Given the description of an element on the screen output the (x, y) to click on. 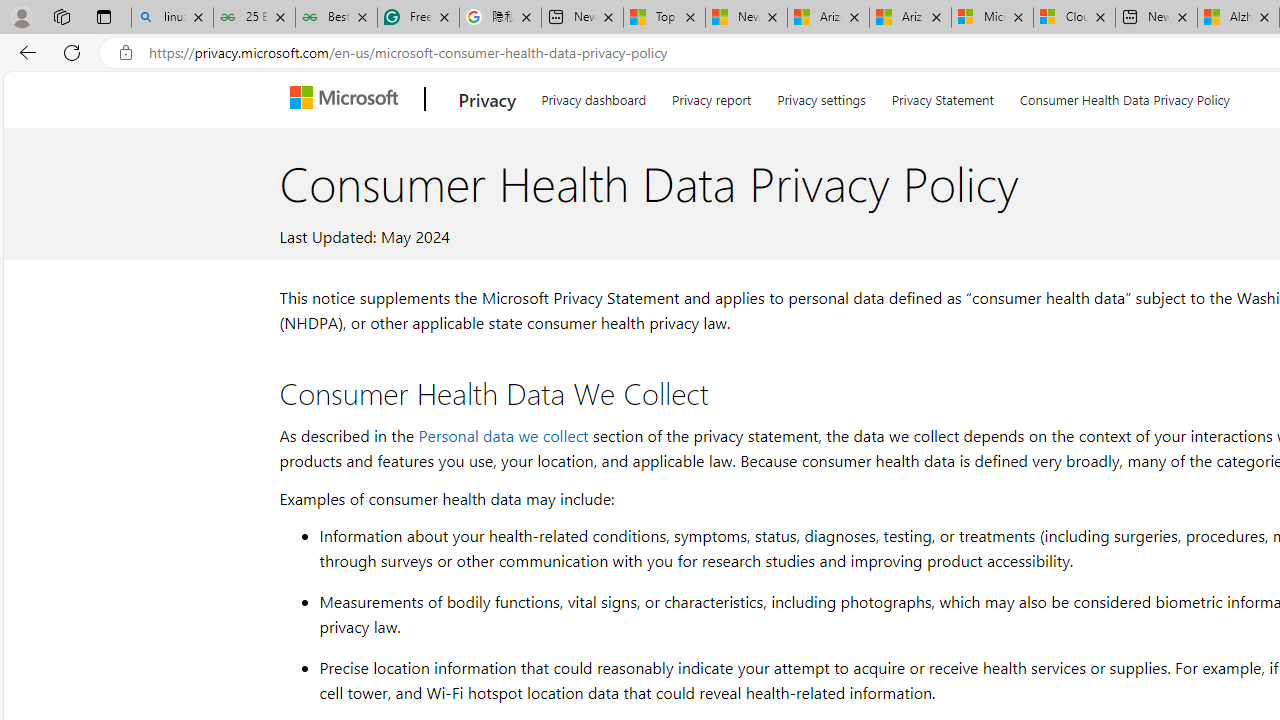
Privacy Statement (942, 96)
Cloud Computing Services | Microsoft Azure (1074, 17)
Privacy dashboard (593, 96)
Privacy report (712, 96)
Consumer Health Data Privacy Policy (1124, 96)
Privacy settings (821, 96)
